Given the description of an element on the screen output the (x, y) to click on. 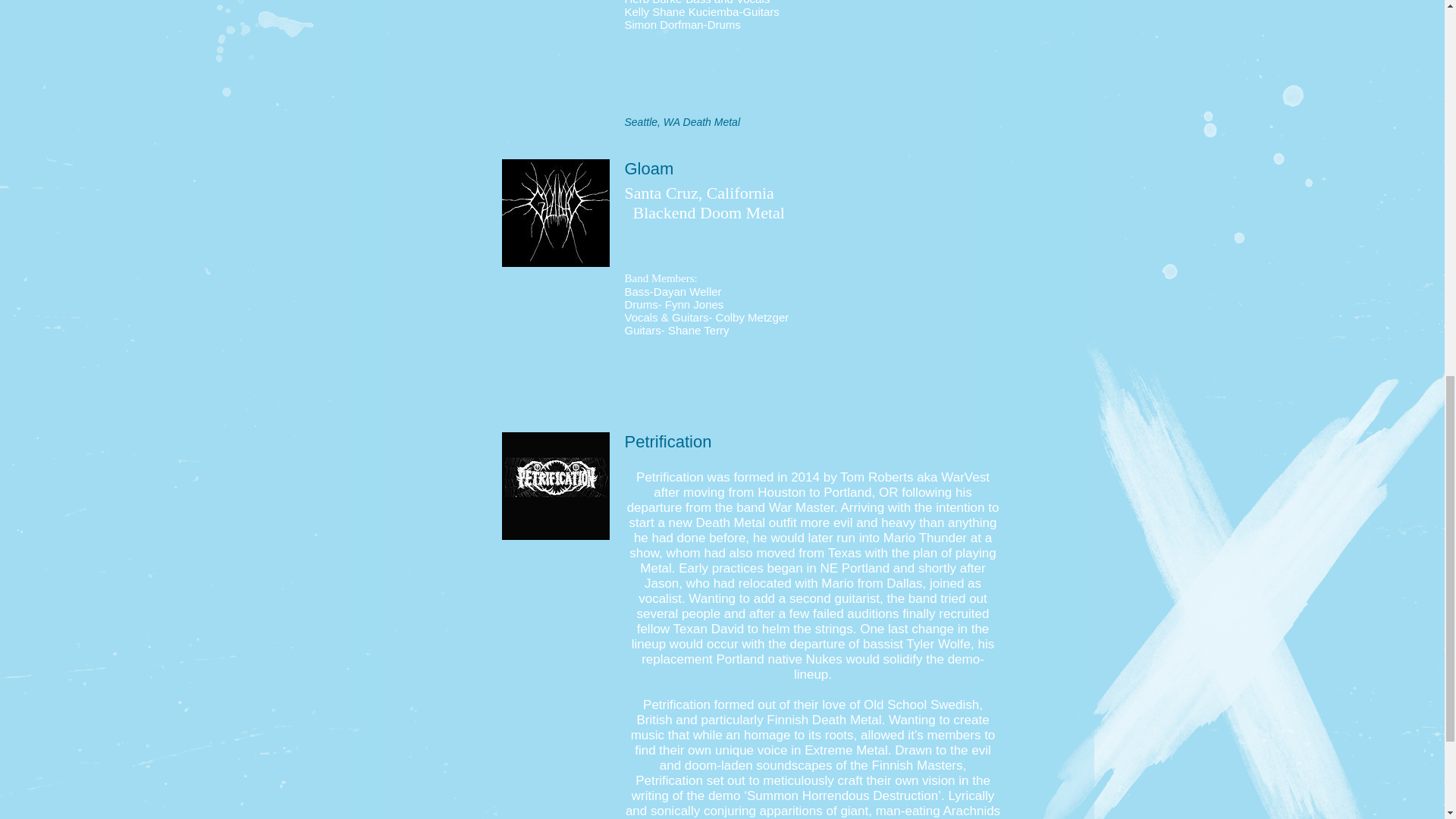
Bass-Dayan Weller (673, 291)
Gloam (556, 212)
Colby Metzger (752, 317)
Screen Shot 2018-01-08 at 7.11.37 PM.png (556, 485)
Guitars- (693, 317)
Drums- Fynn Jones (673, 304)
Shane Terry (698, 329)
Guitars- (646, 329)
